Given the description of an element on the screen output the (x, y) to click on. 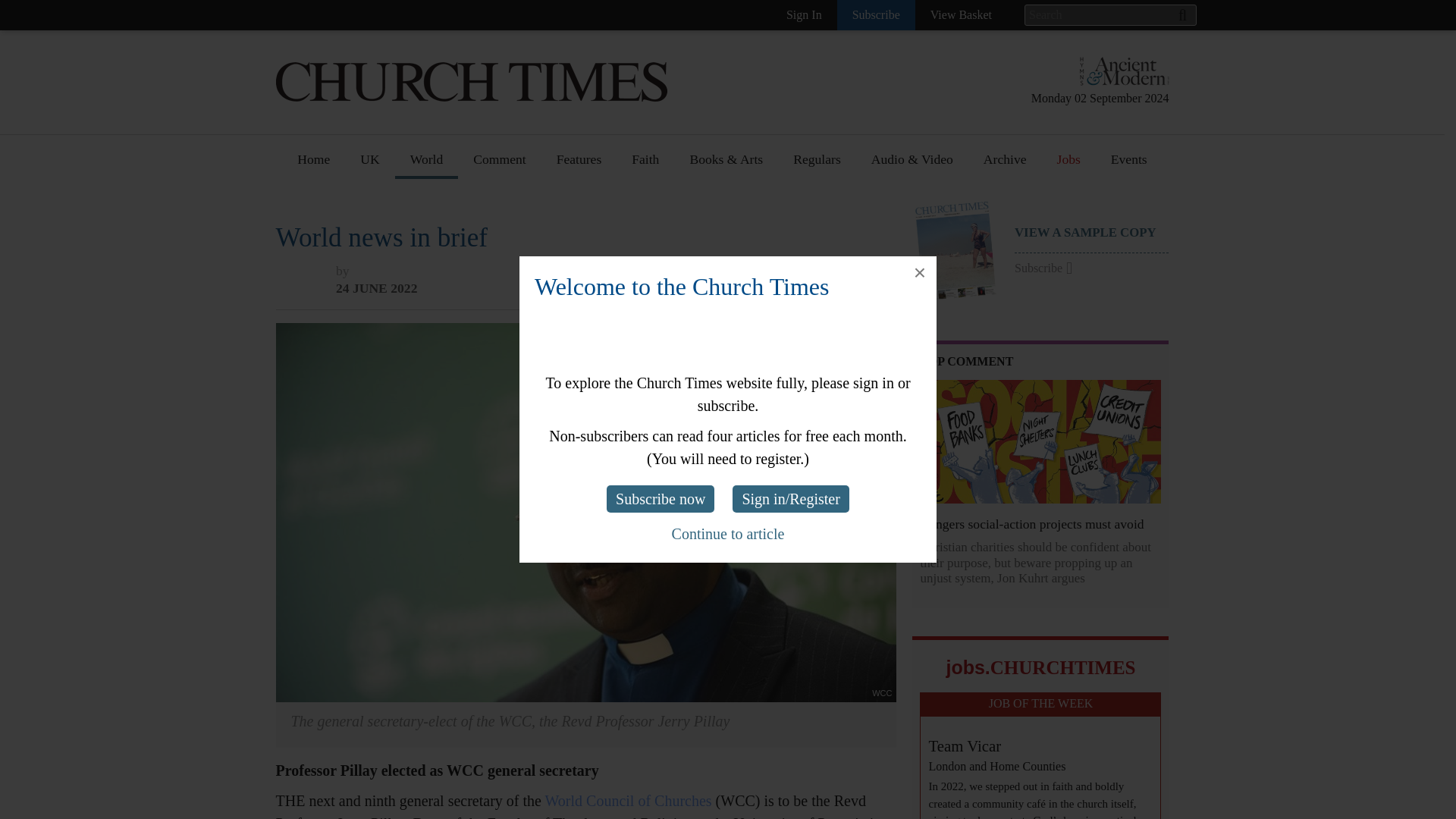
Columnists (504, 260)
TV (698, 399)
Features (579, 164)
View Basket (961, 15)
Book club (717, 260)
Features (580, 204)
Music (705, 316)
Home (313, 164)
Opinion (495, 204)
Subscribe now (660, 498)
